Given the description of an element on the screen output the (x, y) to click on. 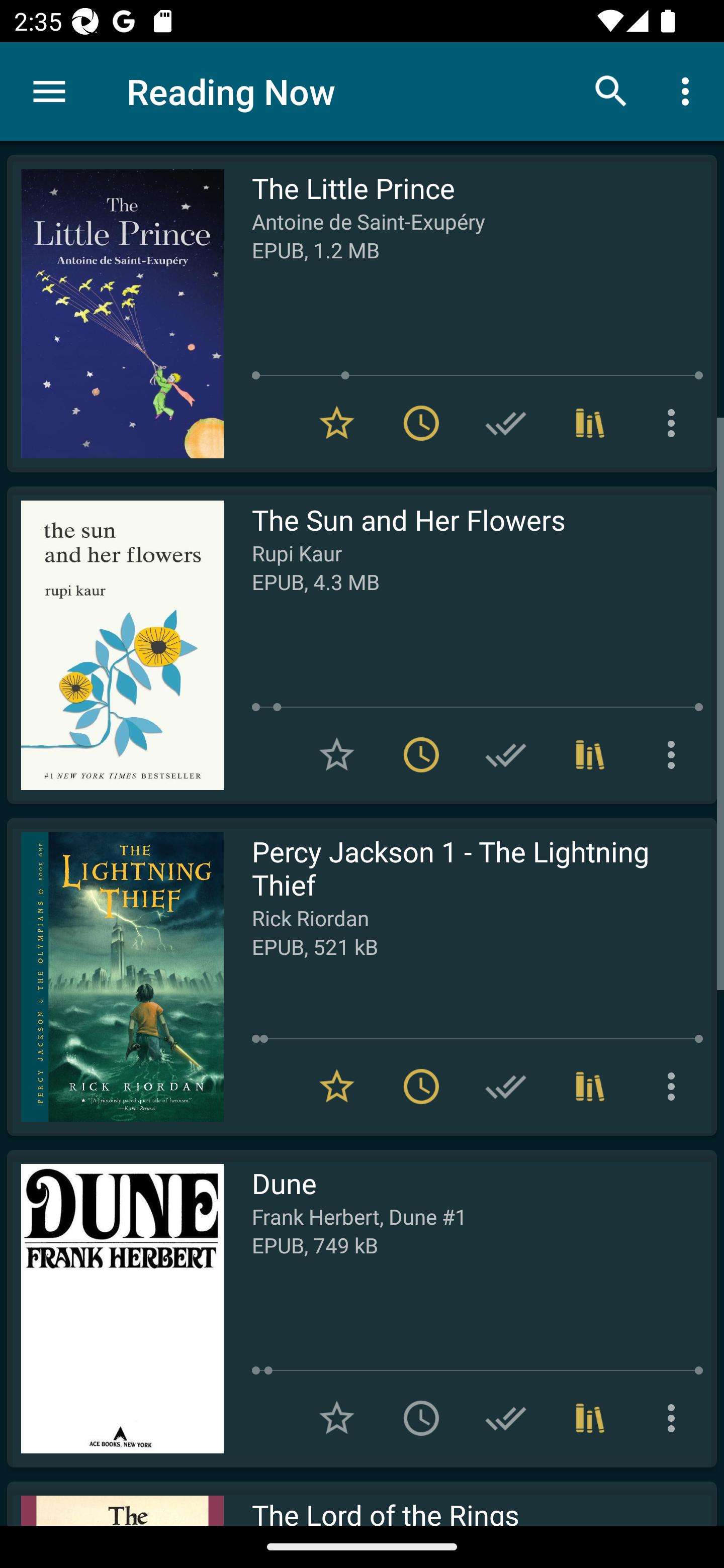
Menu (49, 91)
Search books & documents (611, 90)
More options (688, 90)
Read The Little Prince (115, 313)
Remove from Favorites (336, 423)
Remove from To read (421, 423)
Add to Have read (505, 423)
Collections (1) (590, 423)
More options (674, 423)
Read The Sun and Her Flowers (115, 645)
Add to Favorites (336, 753)
Remove from To read (421, 753)
Add to Have read (505, 753)
Collections (1) (590, 753)
More options (674, 753)
Read Percy Jackson 1 - The Lightning Thief (115, 976)
Remove from Favorites (336, 1086)
Remove from To read (421, 1086)
Add to Have read (505, 1086)
Collections (1) (590, 1086)
More options (674, 1086)
Read Dune (115, 1308)
Add to Favorites (336, 1417)
Add to To read (421, 1417)
Add to Have read (505, 1417)
Collections (1) (590, 1417)
More options (674, 1417)
